Given the description of an element on the screen output the (x, y) to click on. 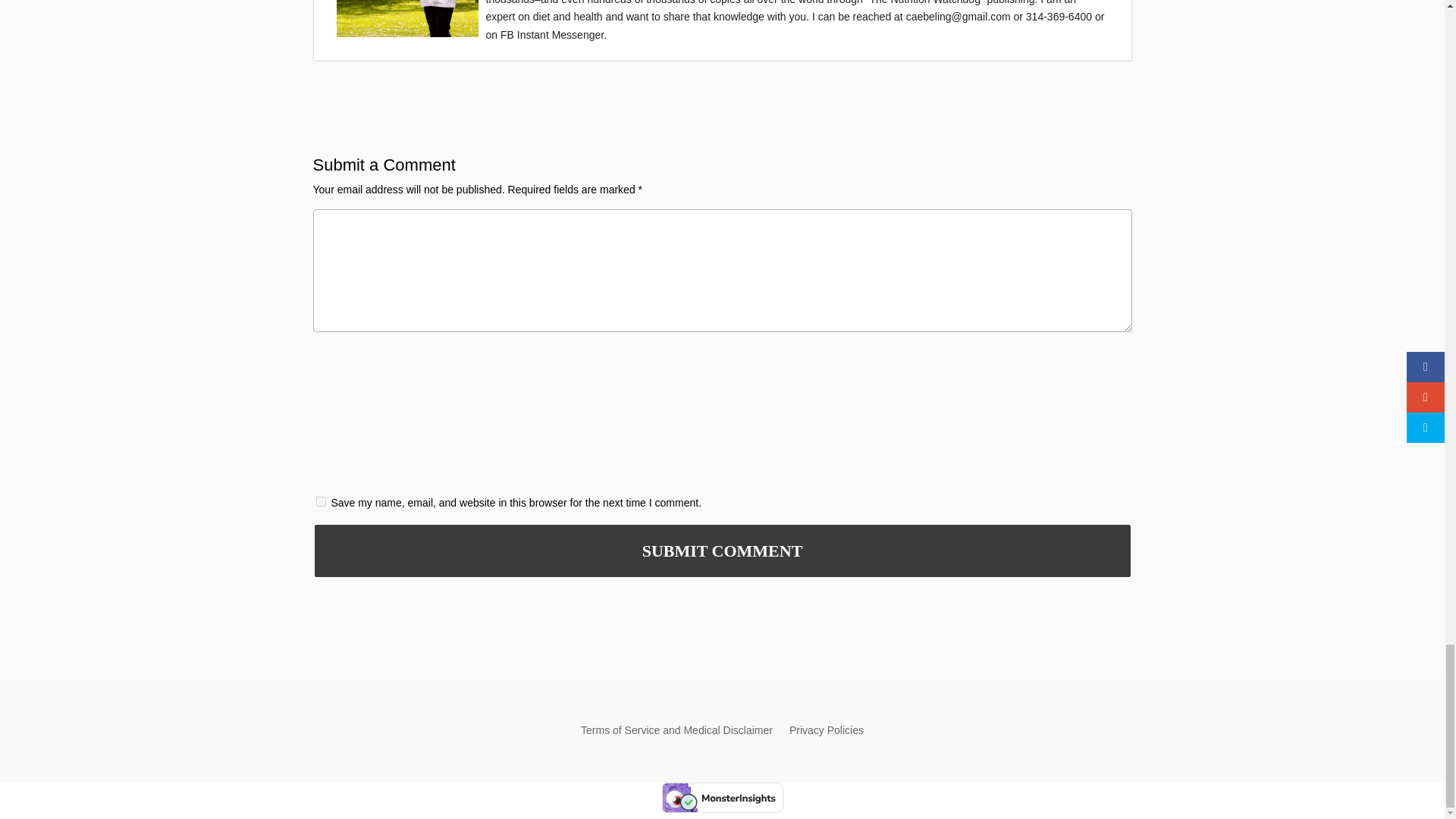
Verified by MonsterInsights (722, 797)
yes (319, 501)
SUBMIT COMMENT (722, 550)
